Given the description of an element on the screen output the (x, y) to click on. 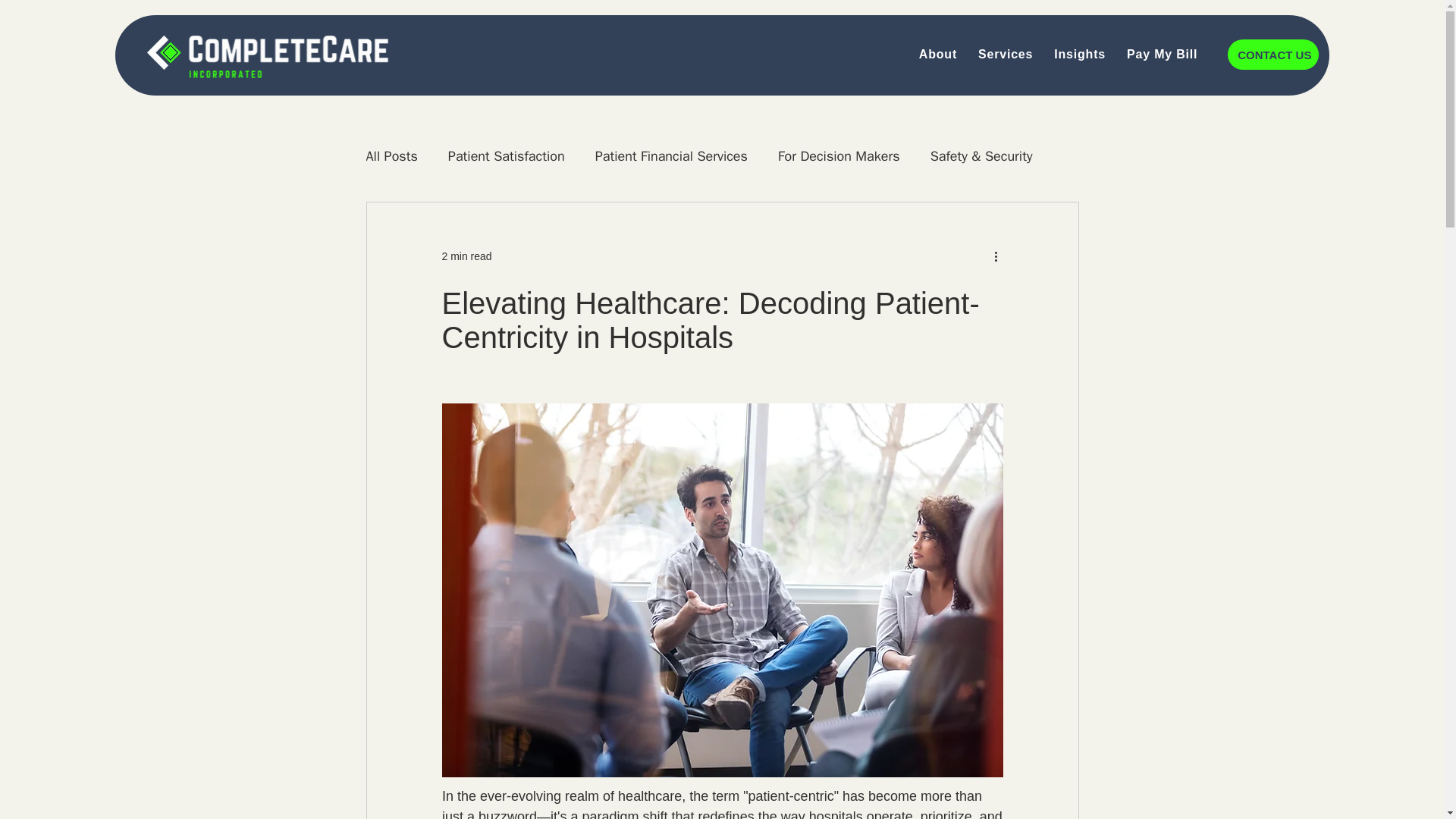
CONTACT US (1273, 54)
Pay My Bill (1162, 54)
Insights (1079, 54)
Patient Satisfaction (506, 156)
About (937, 54)
2 min read (466, 256)
Patient Financial Services (671, 156)
For Decision Makers (838, 156)
All Posts (390, 156)
